Given the description of an element on the screen output the (x, y) to click on. 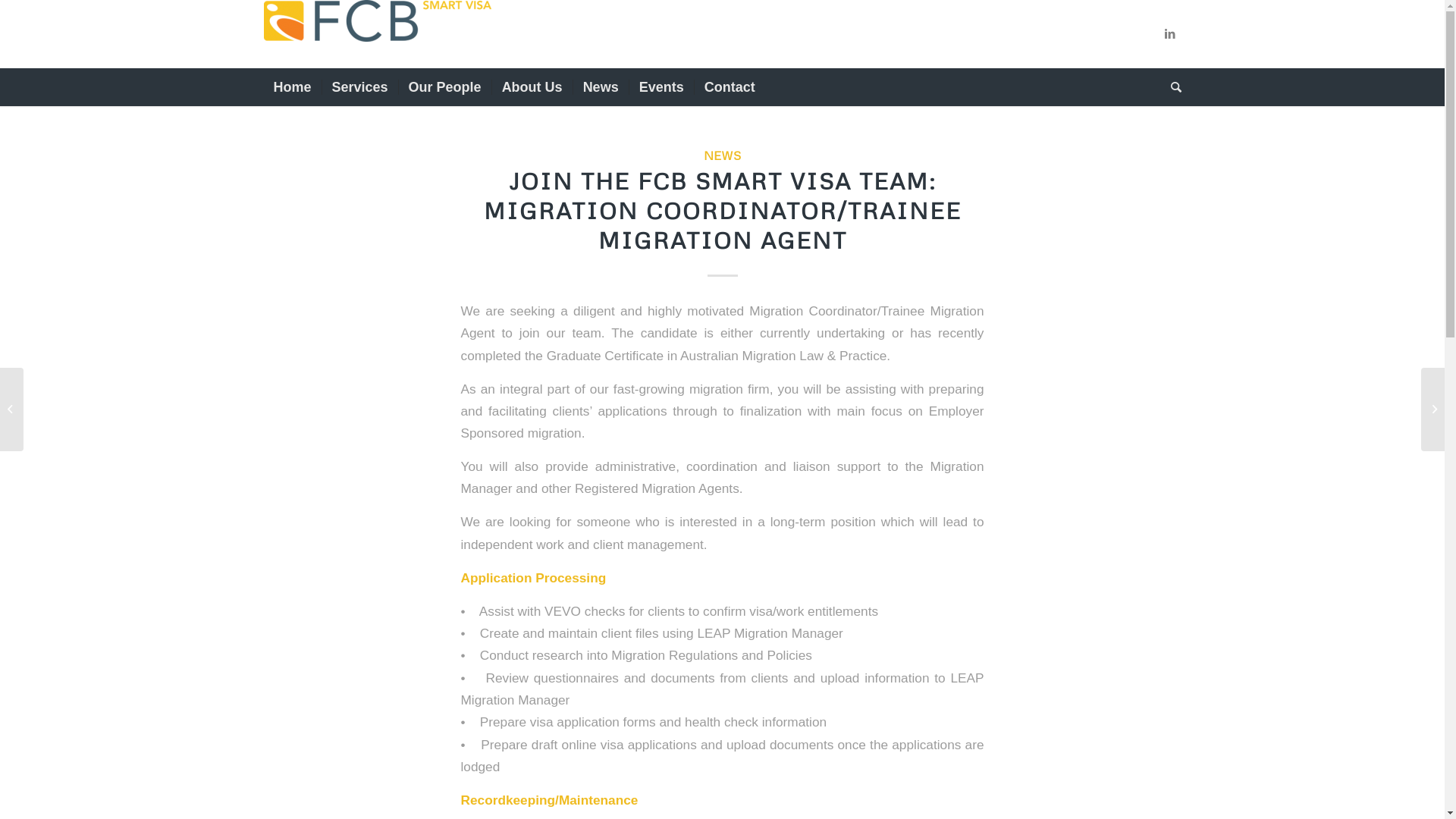
News Element type: text (600, 87)
Home Element type: text (292, 87)
Events Element type: text (660, 87)
NEWS Element type: text (721, 154)
Services Element type: text (359, 87)
LinkedIn Element type: hover (1169, 33)
Contact Element type: text (729, 87)
Our People Element type: text (444, 87)
About Us Element type: text (531, 87)
